Given the description of an element on the screen output the (x, y) to click on. 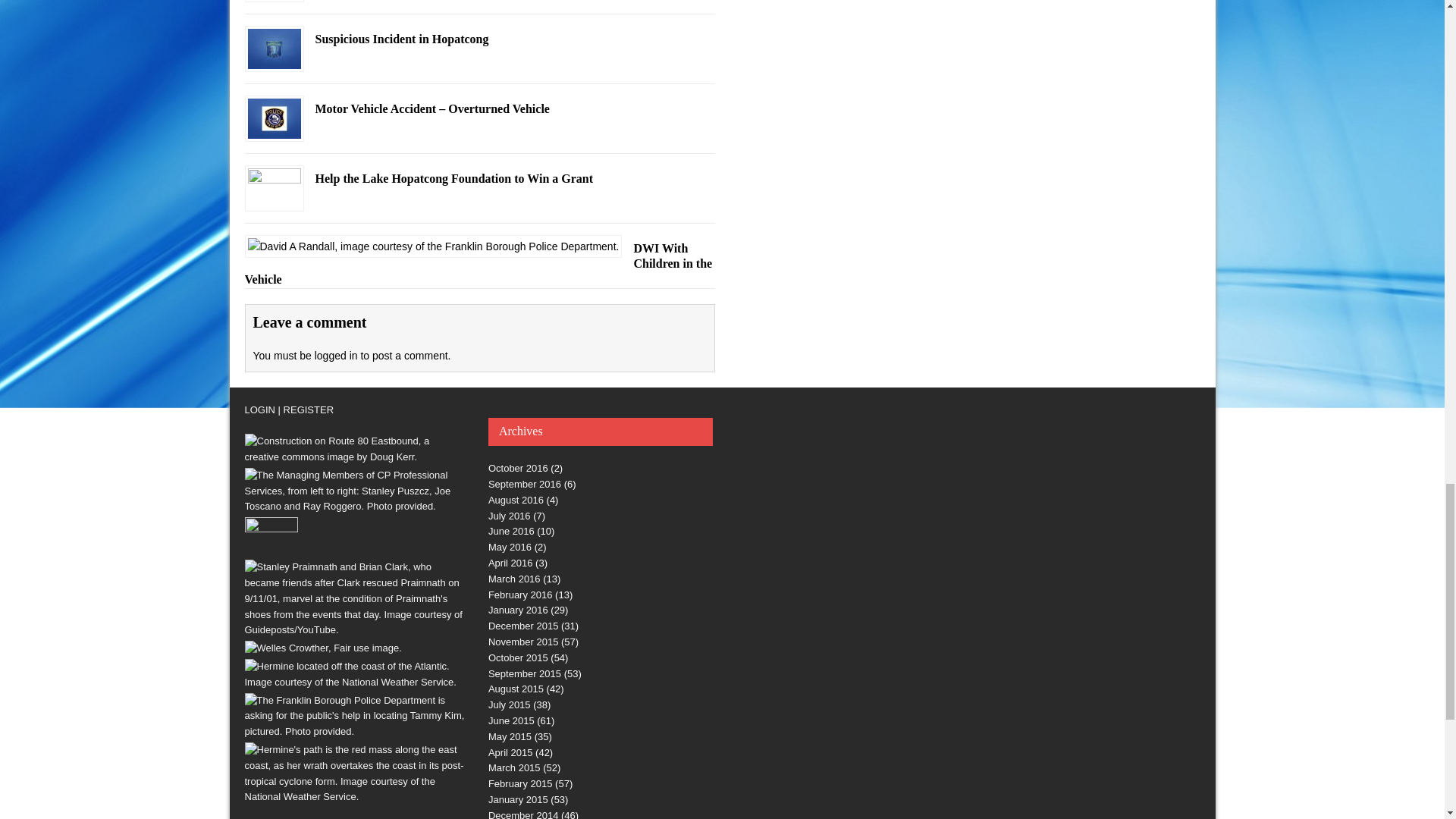
Suspicious Incident in Hopatcong (273, 60)
Help the Lake Hopatcong Foundation to Win a Grant (273, 199)
DWI With Children in the Vehicle (432, 246)
